Given the description of an element on the screen output the (x, y) to click on. 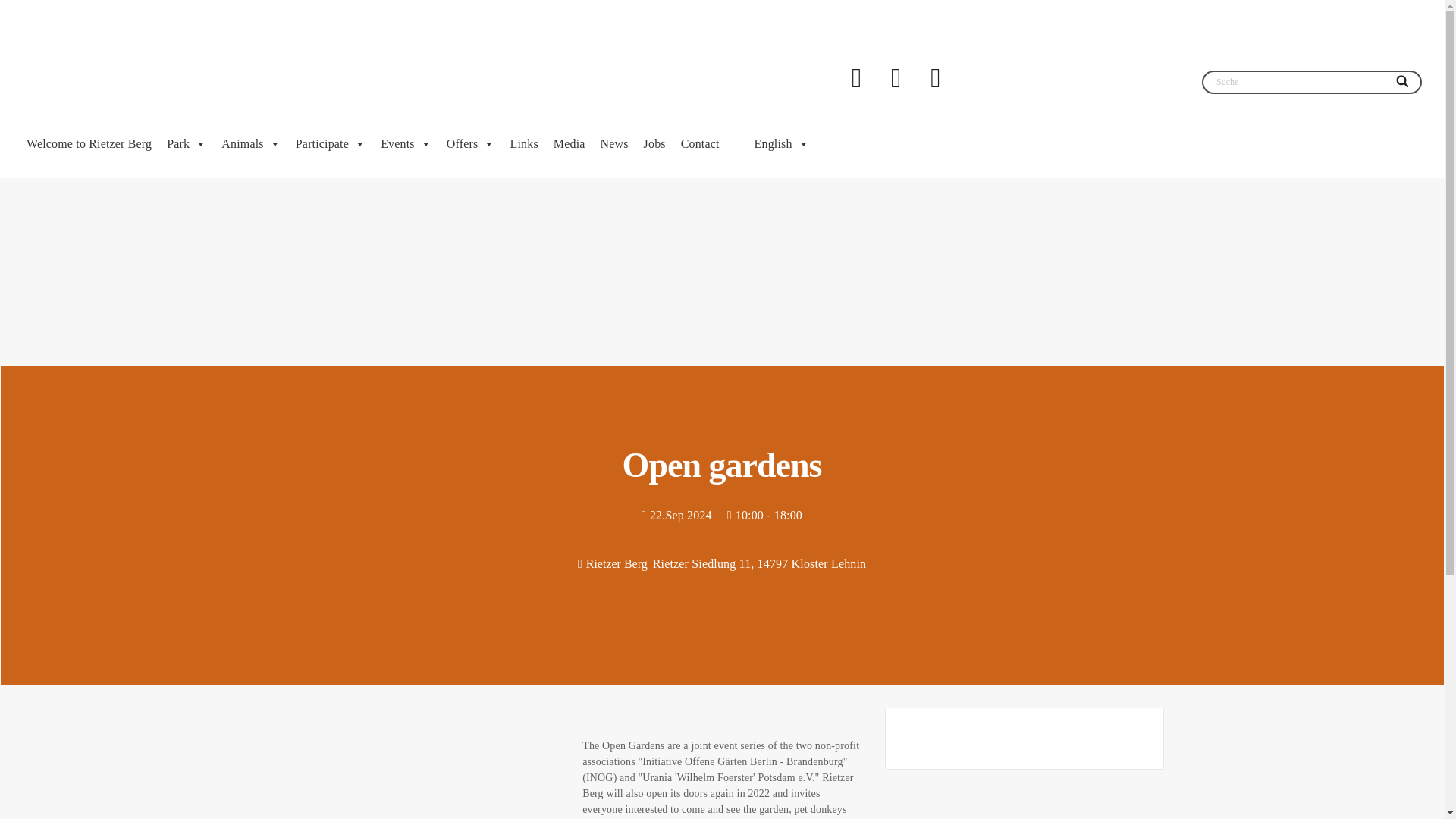
Animals (251, 143)
Youtube (895, 77)
Instagram (935, 77)
Park (186, 143)
Welcome to Rietzer Berg (88, 143)
English (771, 143)
Facebook (855, 77)
Willkomen im Landschaftspark Rietzer Berg (136, 62)
Suche (1312, 81)
